Given the description of an element on the screen output the (x, y) to click on. 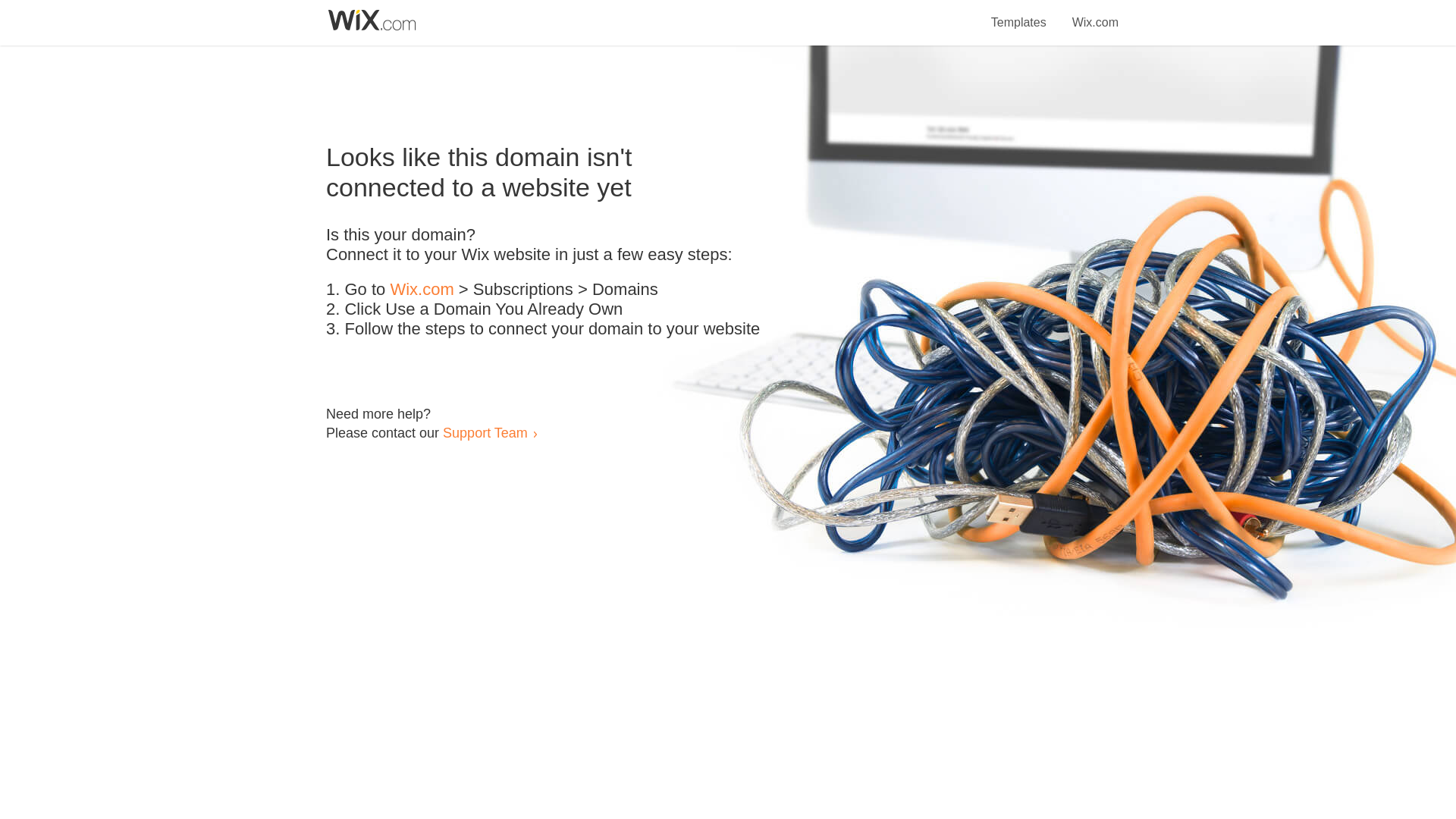
Templates (1018, 14)
Wix.com (421, 289)
Wix.com (1095, 14)
Support Team (484, 432)
